Given the description of an element on the screen output the (x, y) to click on. 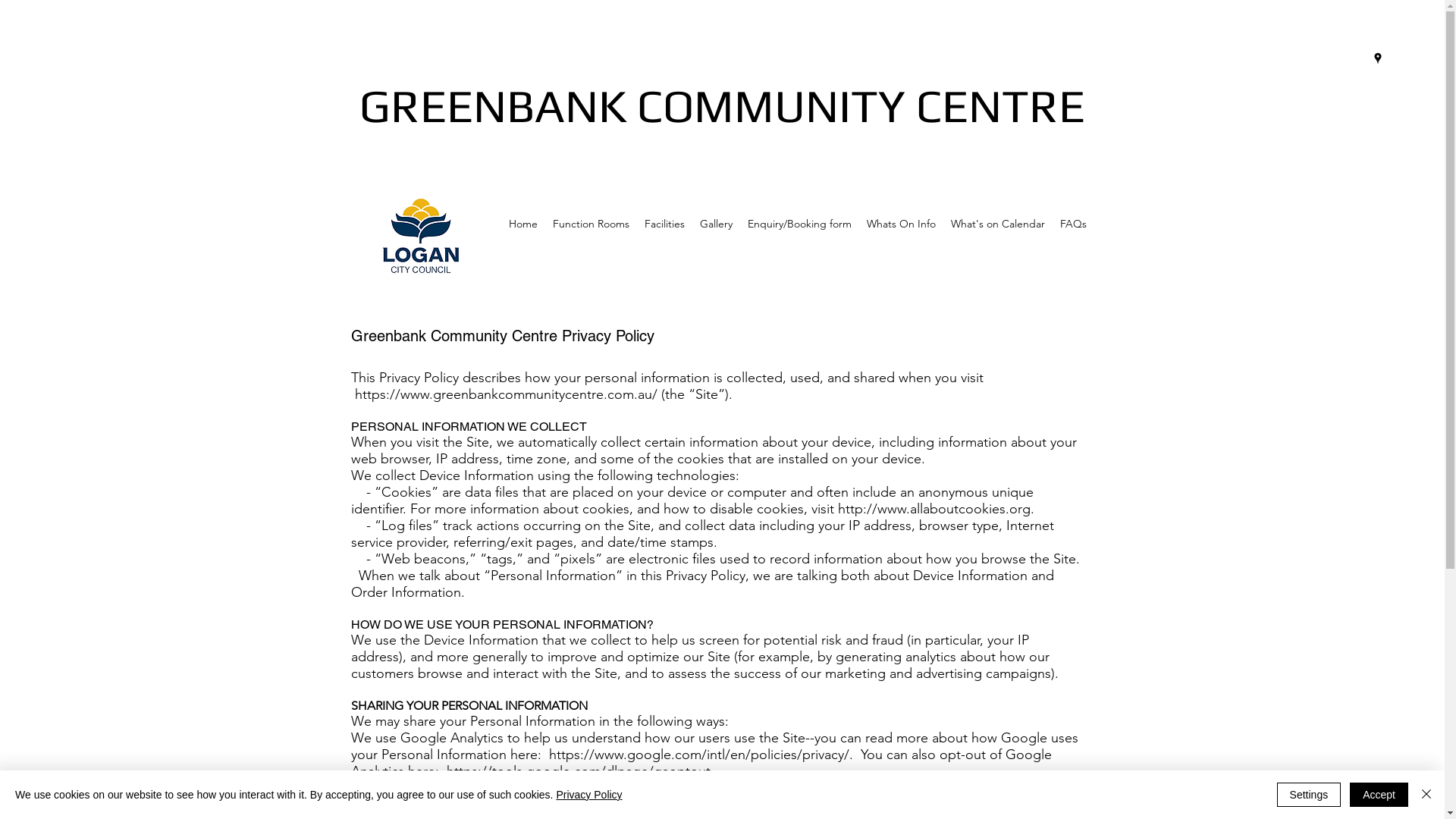
Gallery Element type: text (715, 223)
https://tools.google.com/dlpage/gaoptout. Element type: text (579, 770)
Function Rooms Element type: text (590, 223)
What's on Calendar Element type: text (997, 223)
Privacy Policy Element type: text (588, 794)
FAQs Element type: text (1073, 223)
https://www.greenbankcommunitycentre.com.au/ Element type: text (505, 393)
Enquiry/Booking form Element type: text (799, 223)
Accept Element type: text (1378, 794)
https://www.google.com/intl/en/policies/privacy/. Element type: text (701, 754)
Settings Element type: text (1309, 794)
http://www.allaboutcookies.org Element type: text (933, 508)
Home Element type: text (522, 223)
Whats On Info Element type: text (900, 223)
Facilities Element type: text (664, 223)
